Given the description of an element on the screen output the (x, y) to click on. 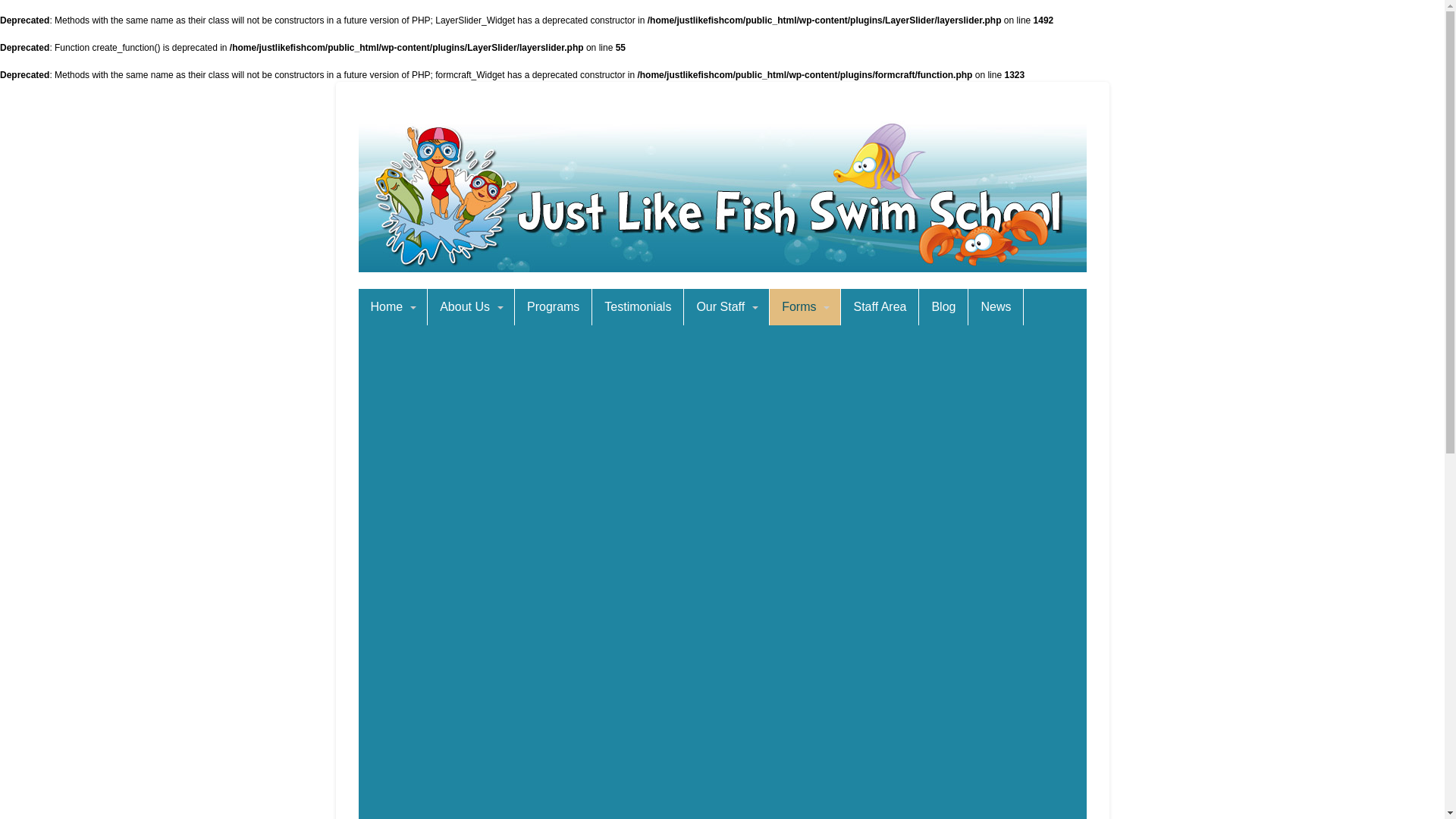
Blog Element type: text (943, 306)
Staff Area Element type: text (879, 306)
Home Element type: text (391, 306)
Programs Element type: text (552, 306)
News Element type: text (995, 306)
About Us Element type: text (470, 306)
Forms Element type: text (804, 306)
Our Staff Element type: text (726, 306)
Testimonials Element type: text (637, 306)
